Given the description of an element on the screen output the (x, y) to click on. 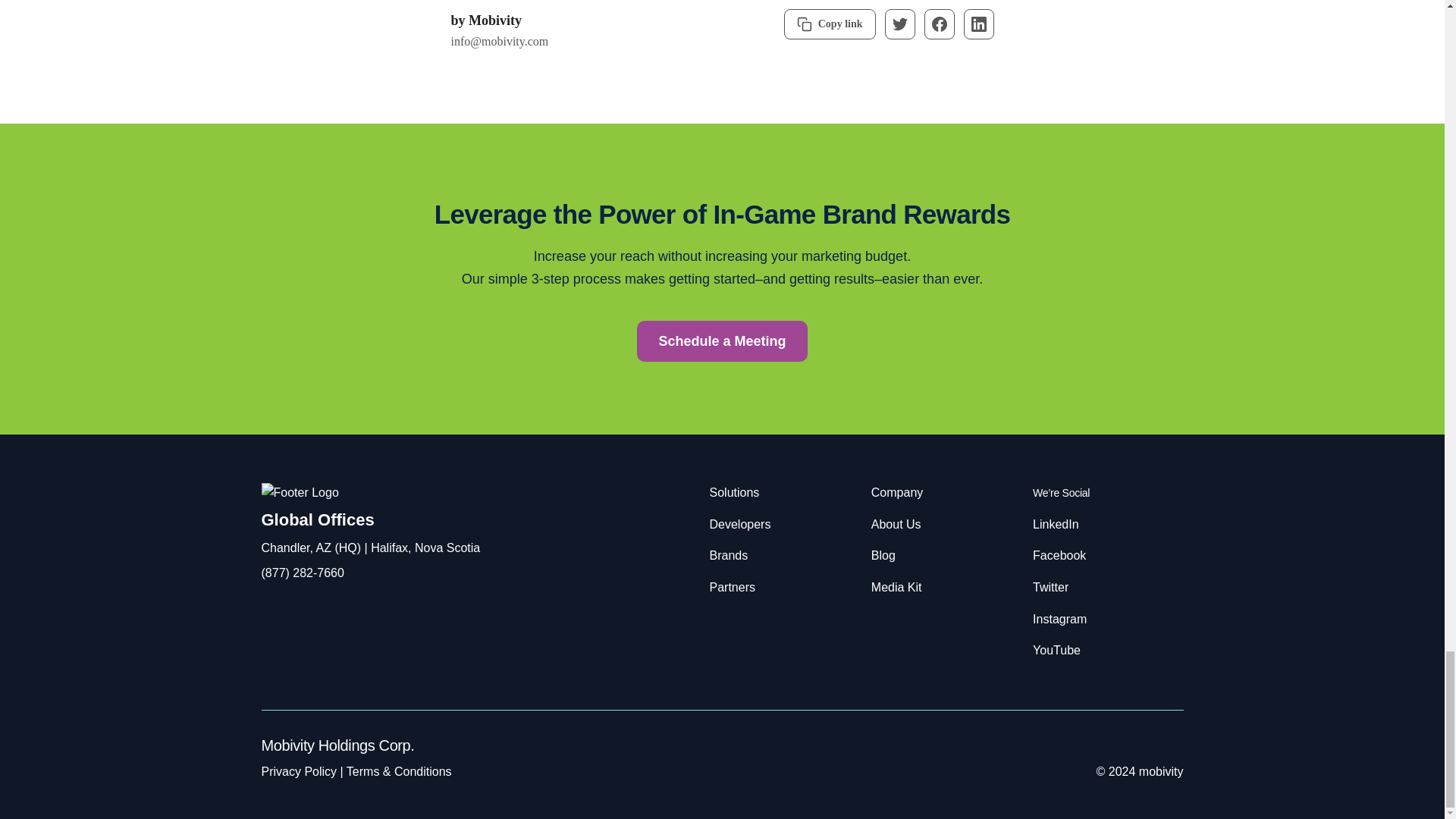
Brands (729, 554)
Mobivity (494, 20)
Schedule a Meeting (721, 341)
Developers (740, 523)
Footer Logo (298, 493)
Solutions (735, 492)
Copy link (830, 24)
